Given the description of an element on the screen output the (x, y) to click on. 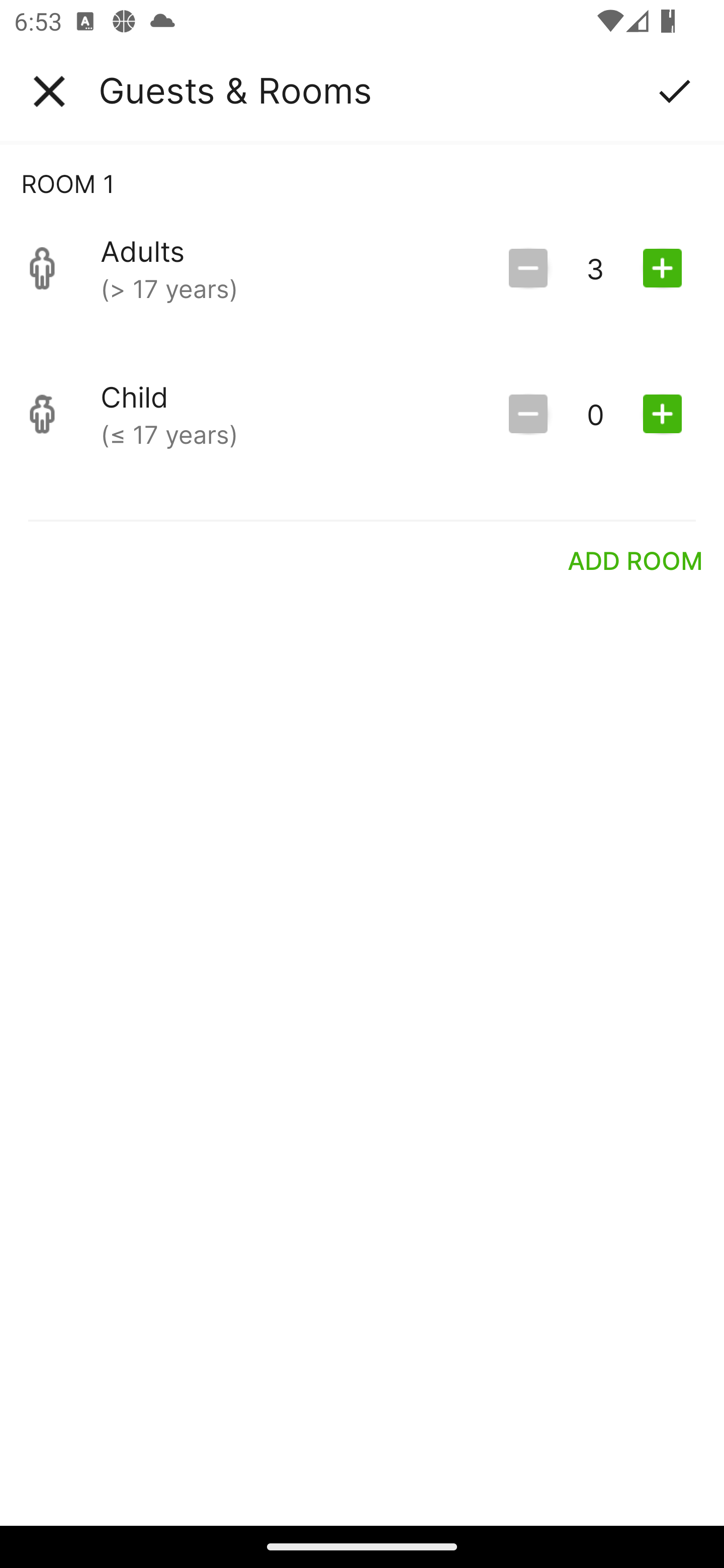
ADD ROOM (635, 560)
